Given the description of an element on the screen output the (x, y) to click on. 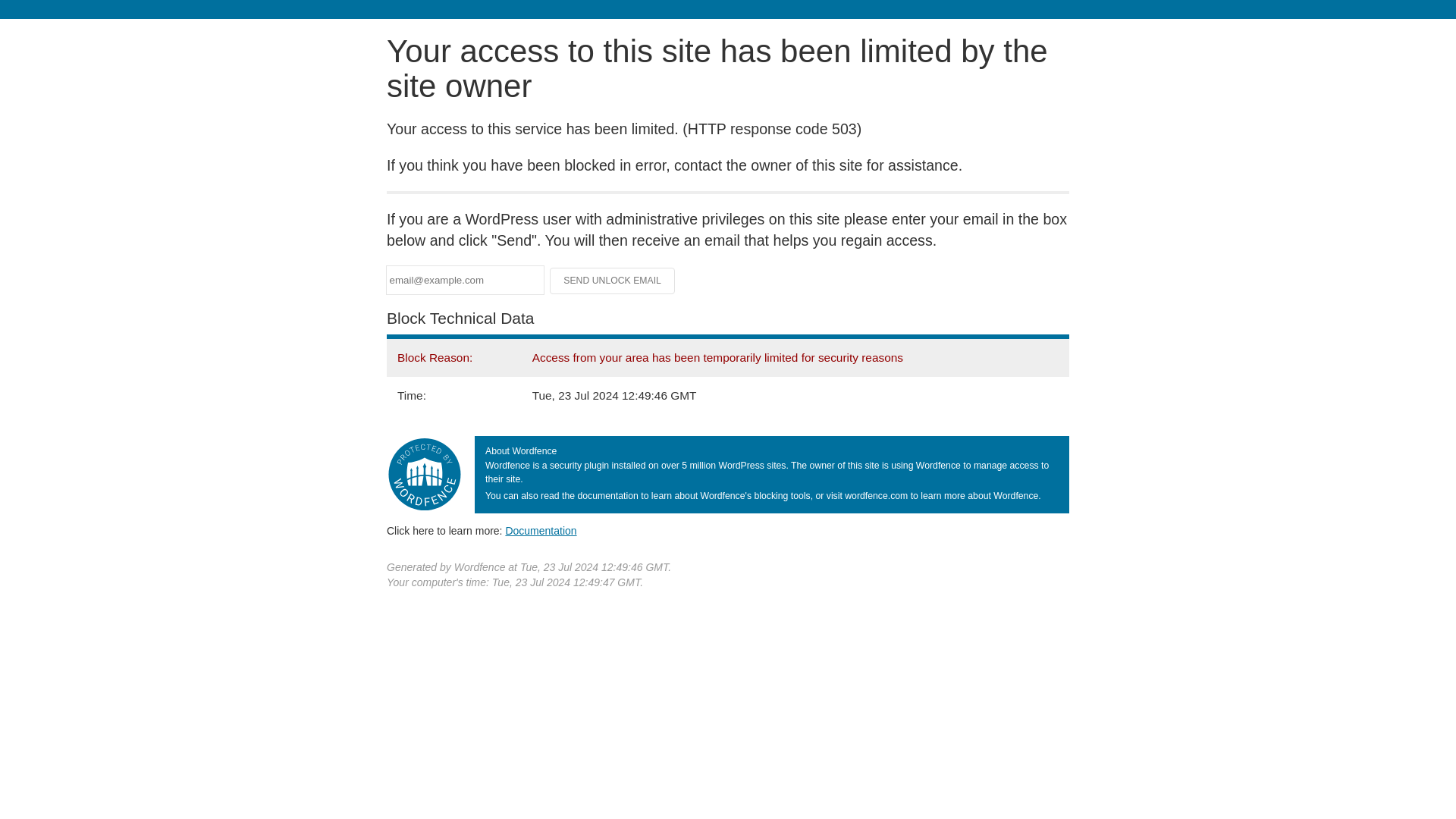
Send Unlock Email (612, 280)
Send Unlock Email (612, 280)
